Given the description of an element on the screen output the (x, y) to click on. 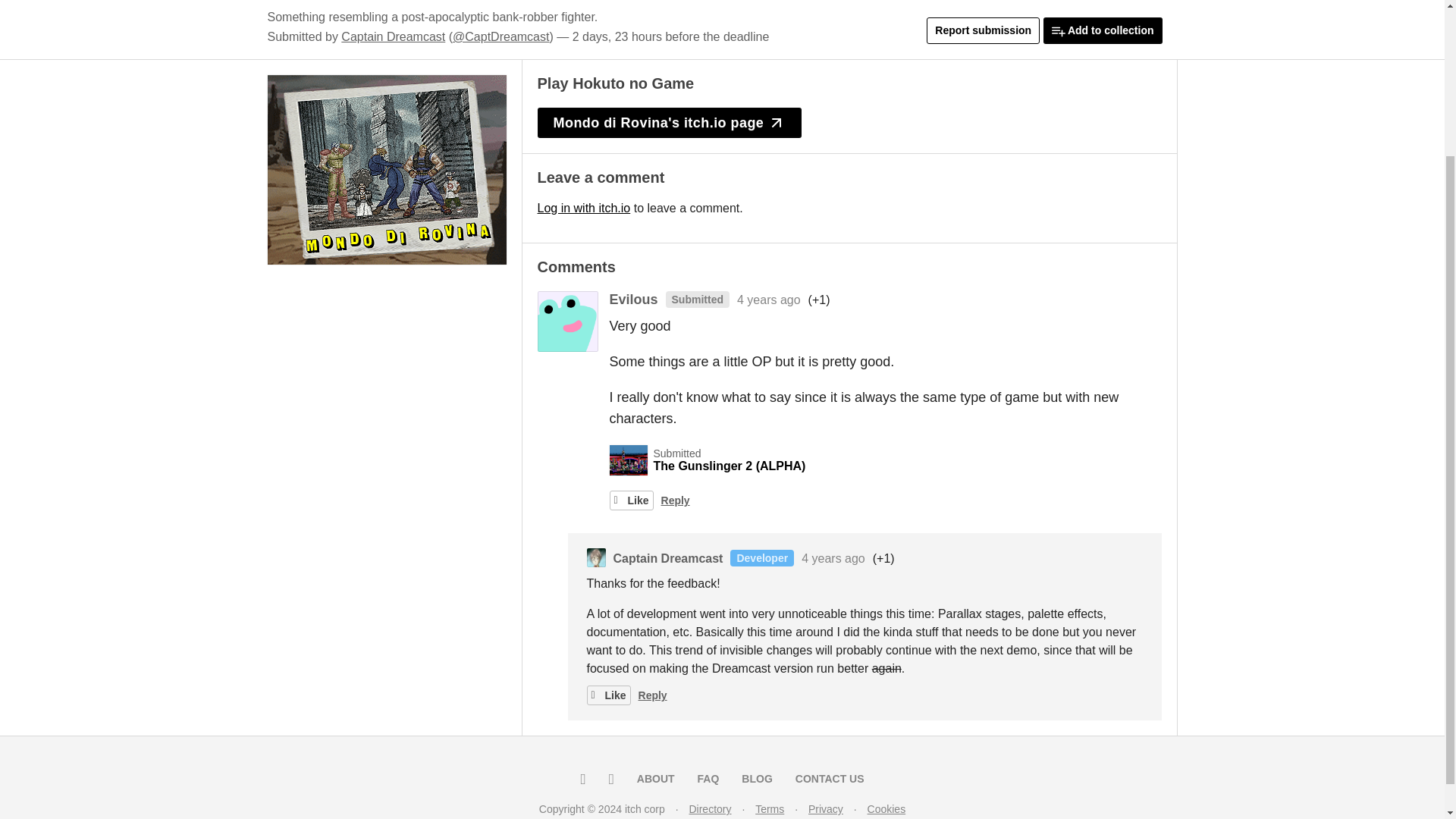
Captain Dreamcast (392, 36)
2020-05-02 00:41:42 (833, 558)
4 years ago (768, 299)
Log in with itch.io (583, 207)
Add to collection (1102, 30)
Report submission (982, 30)
Mondo di Rovina's itch.io page (669, 122)
2020-05-01 13:48:10 (768, 299)
Submitted (693, 299)
Evilous (634, 299)
